Given the description of an element on the screen output the (x, y) to click on. 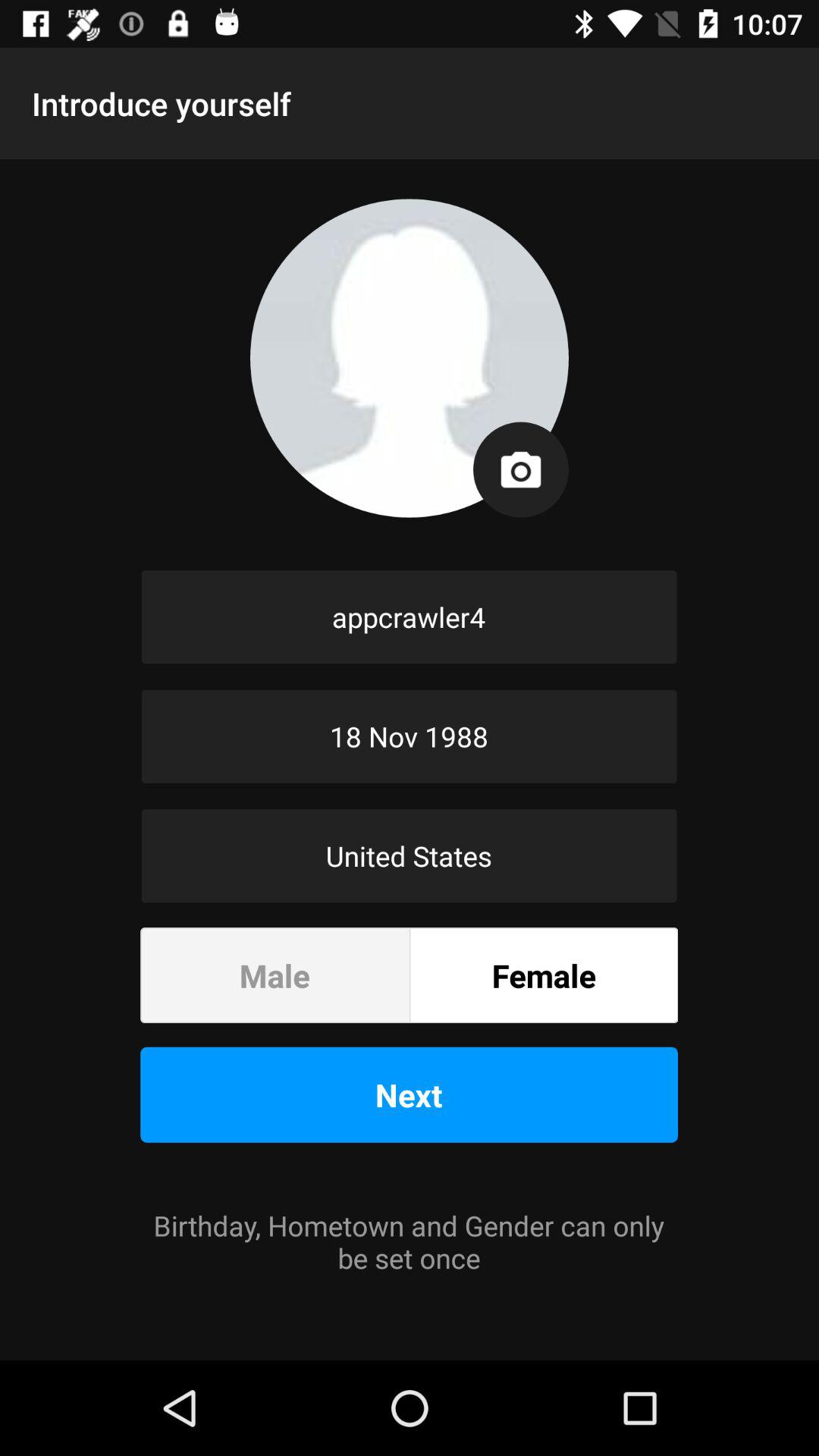
tap the item below the united states (543, 975)
